Given the description of an element on the screen output the (x, y) to click on. 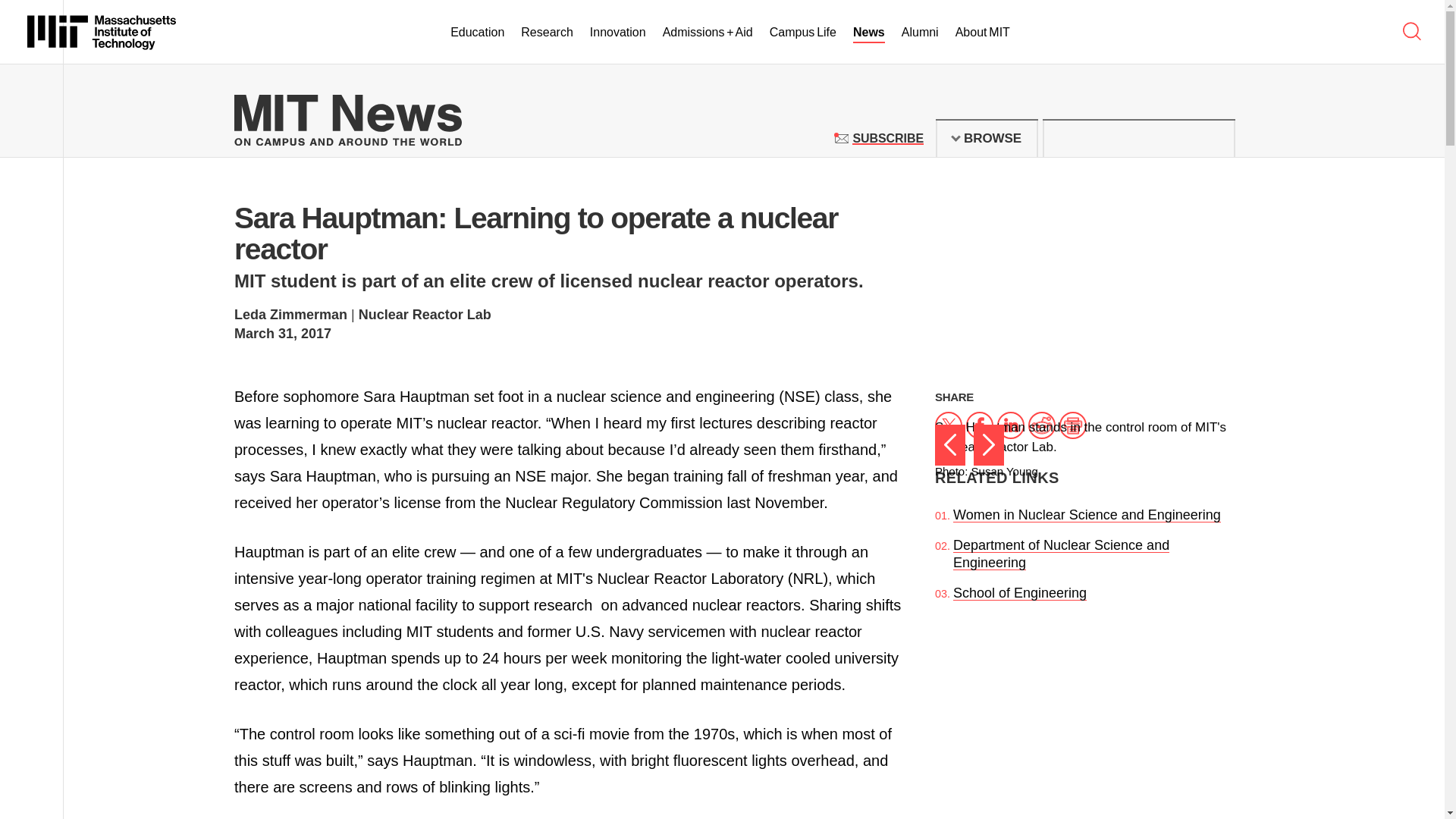
BROWSE (987, 138)
Submit (1214, 138)
Campus Life (802, 32)
Massachusetts Institute of Technology (101, 32)
